Given the description of an element on the screen output the (x, y) to click on. 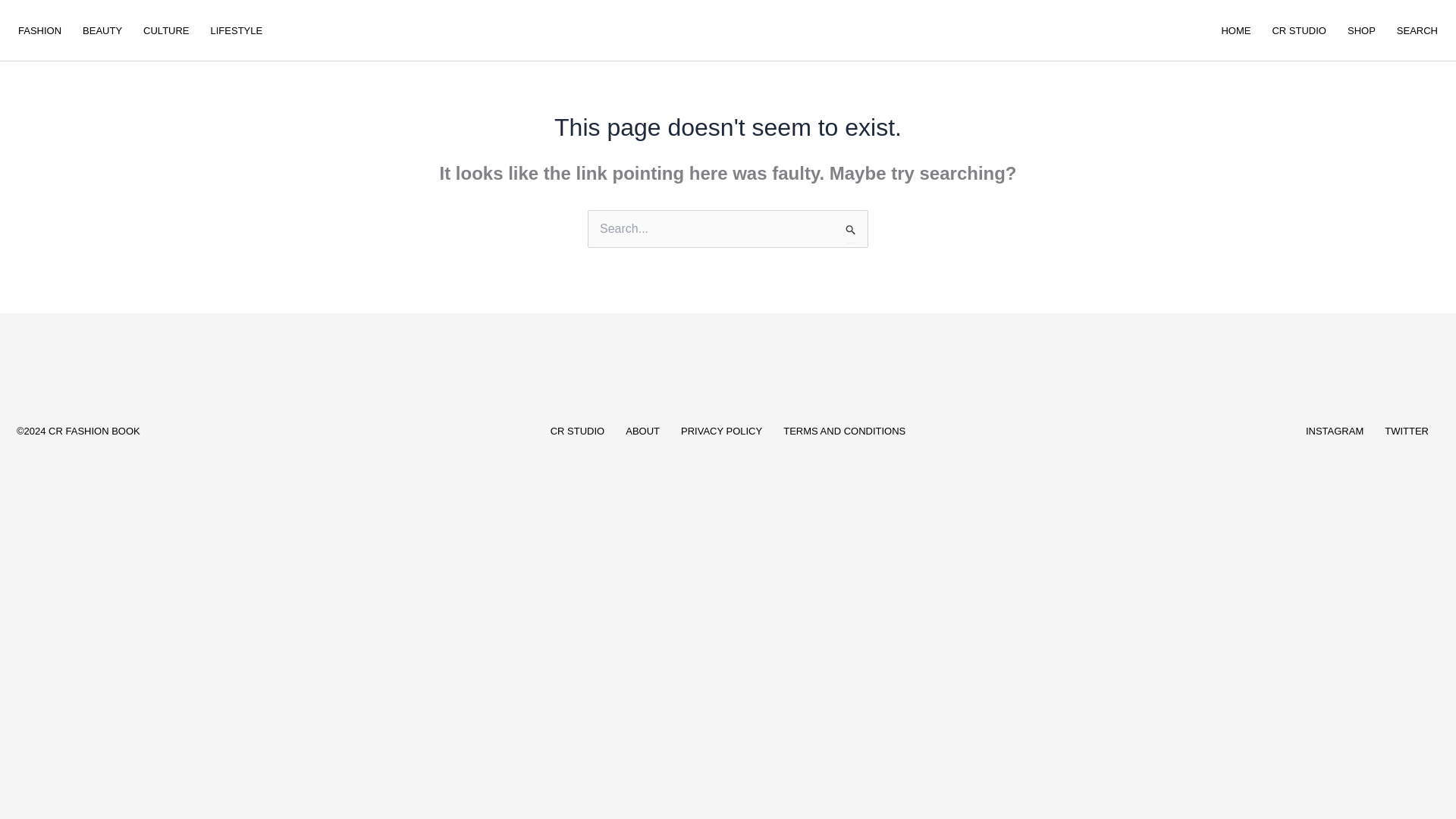
SEARCH (1417, 30)
FASHION (39, 30)
TERMS AND CONDITIONS (844, 430)
CR STUDIO (577, 430)
LIFESTYLE (236, 30)
SHOP (1361, 30)
BEAUTY (101, 30)
PRIVACY POLICY (721, 430)
CULTURE (165, 30)
CR STUDIO (1298, 30)
